Given the description of an element on the screen output the (x, y) to click on. 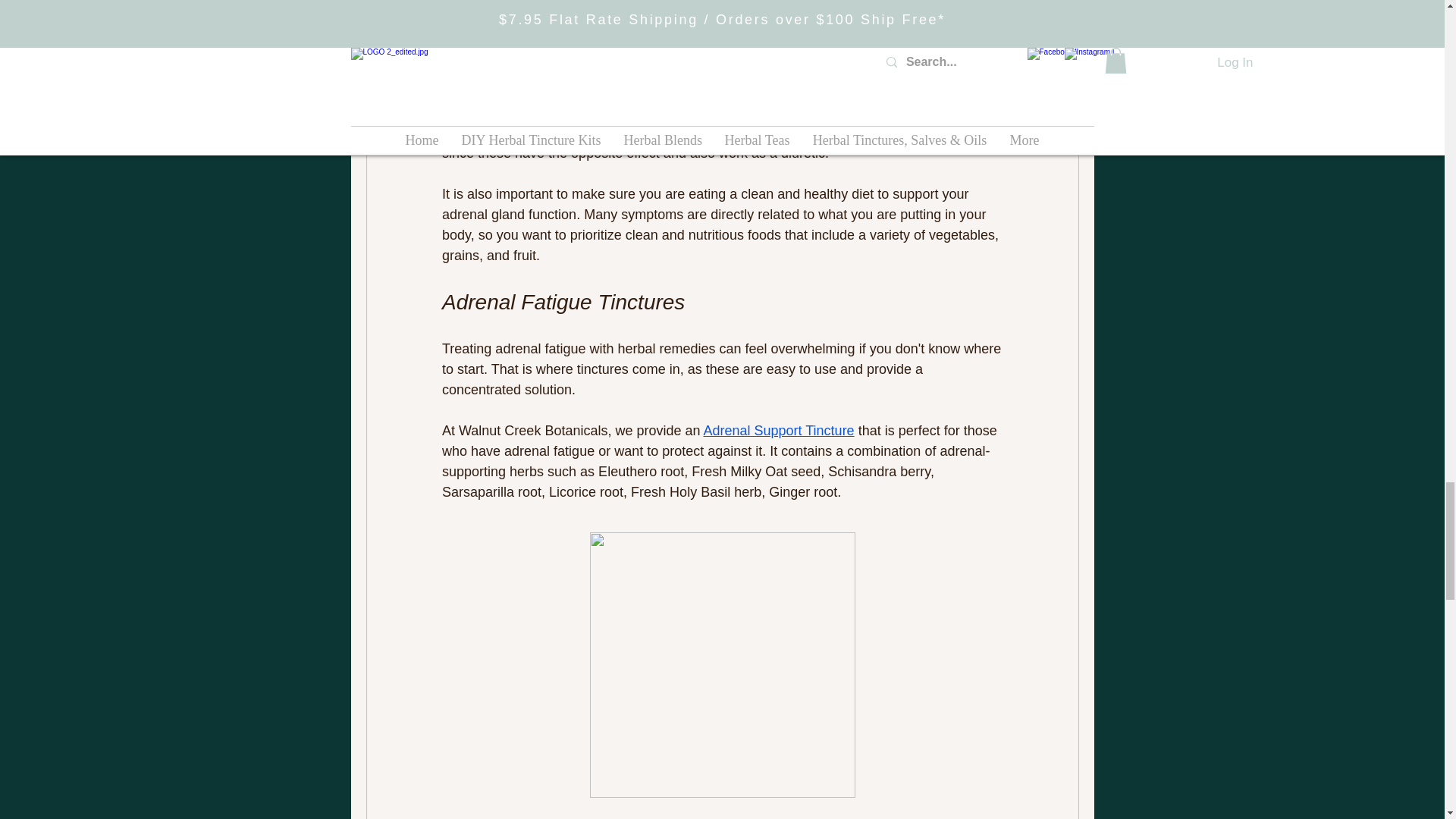
Adrenal Support Tincture (778, 431)
